Given the description of an element on the screen output the (x, y) to click on. 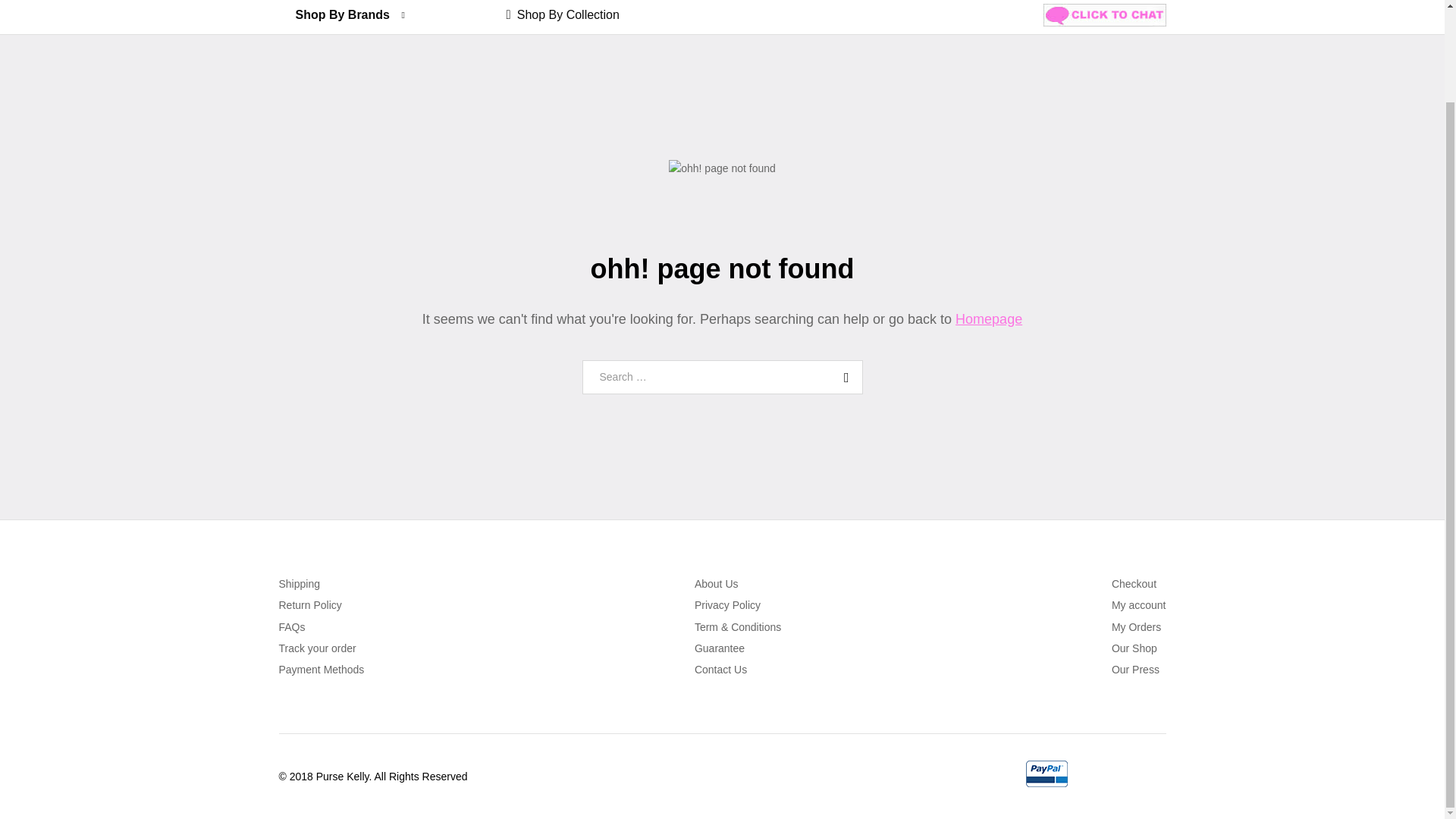
  Pound sterling (1004, 42)
Contact Us (720, 669)
Search (843, 377)
Shop By Collection (563, 14)
  United Arab Emirates dirham (1038, 63)
Italiano (1162, 54)
Search (843, 377)
Return Policy (310, 604)
  Australian dollar (1008, 20)
Guarantee (719, 648)
